Given the description of an element on the screen output the (x, y) to click on. 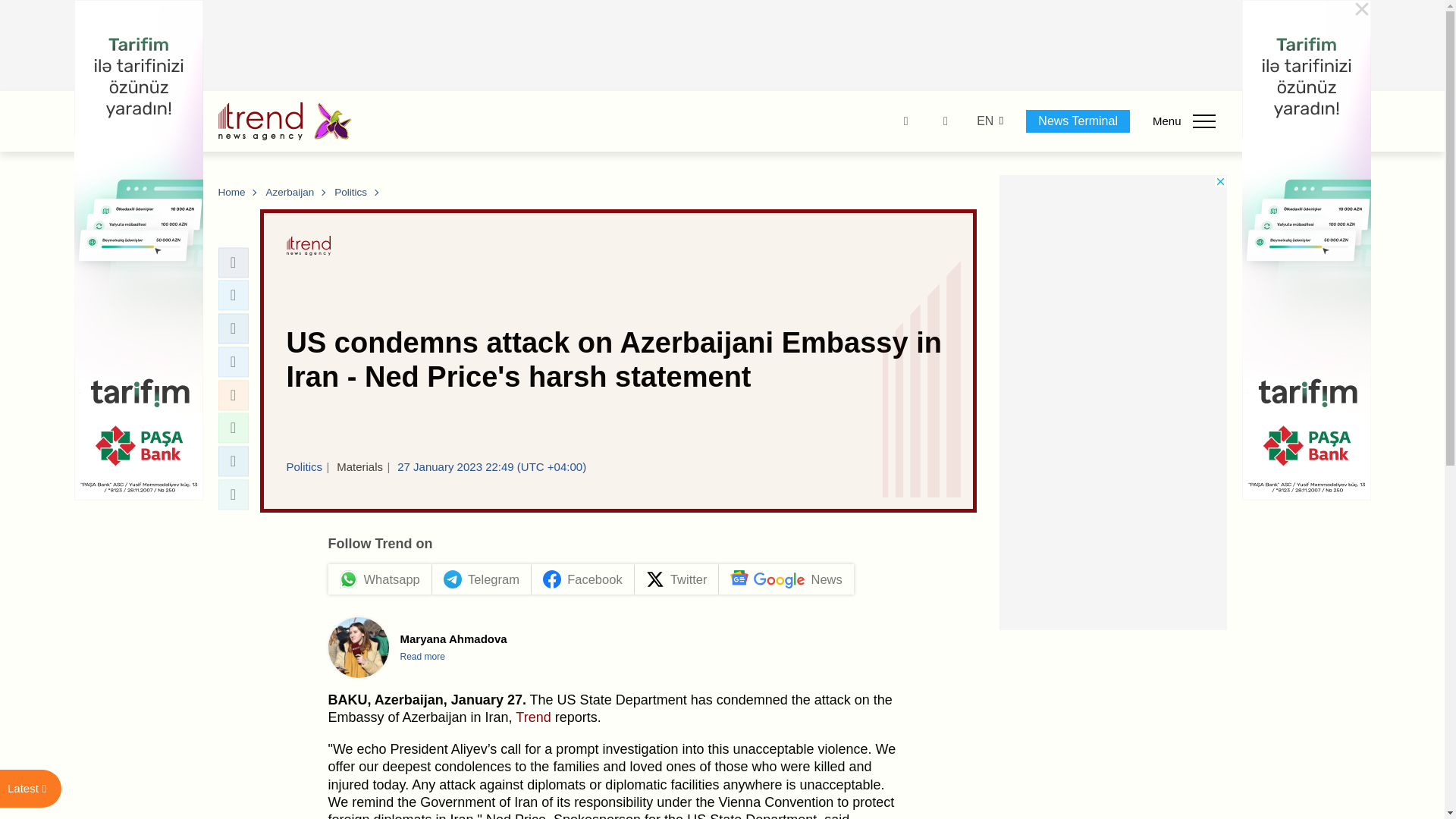
3rd party ad content (722, 45)
News Terminal (1077, 120)
English (984, 121)
EN (984, 121)
